Given the description of an element on the screen output the (x, y) to click on. 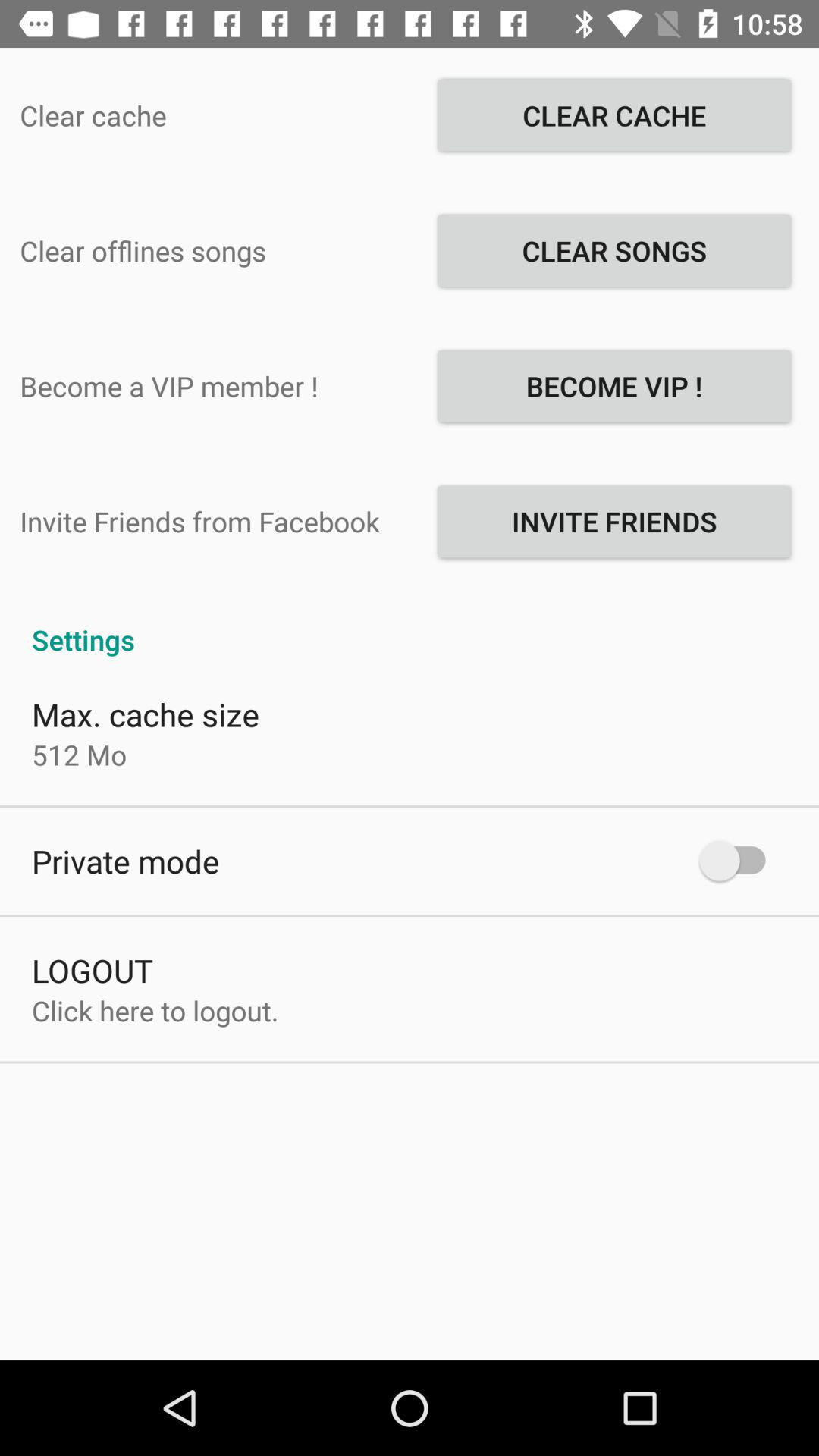
flip to the max. cache size (145, 713)
